Given the description of an element on the screen output the (x, y) to click on. 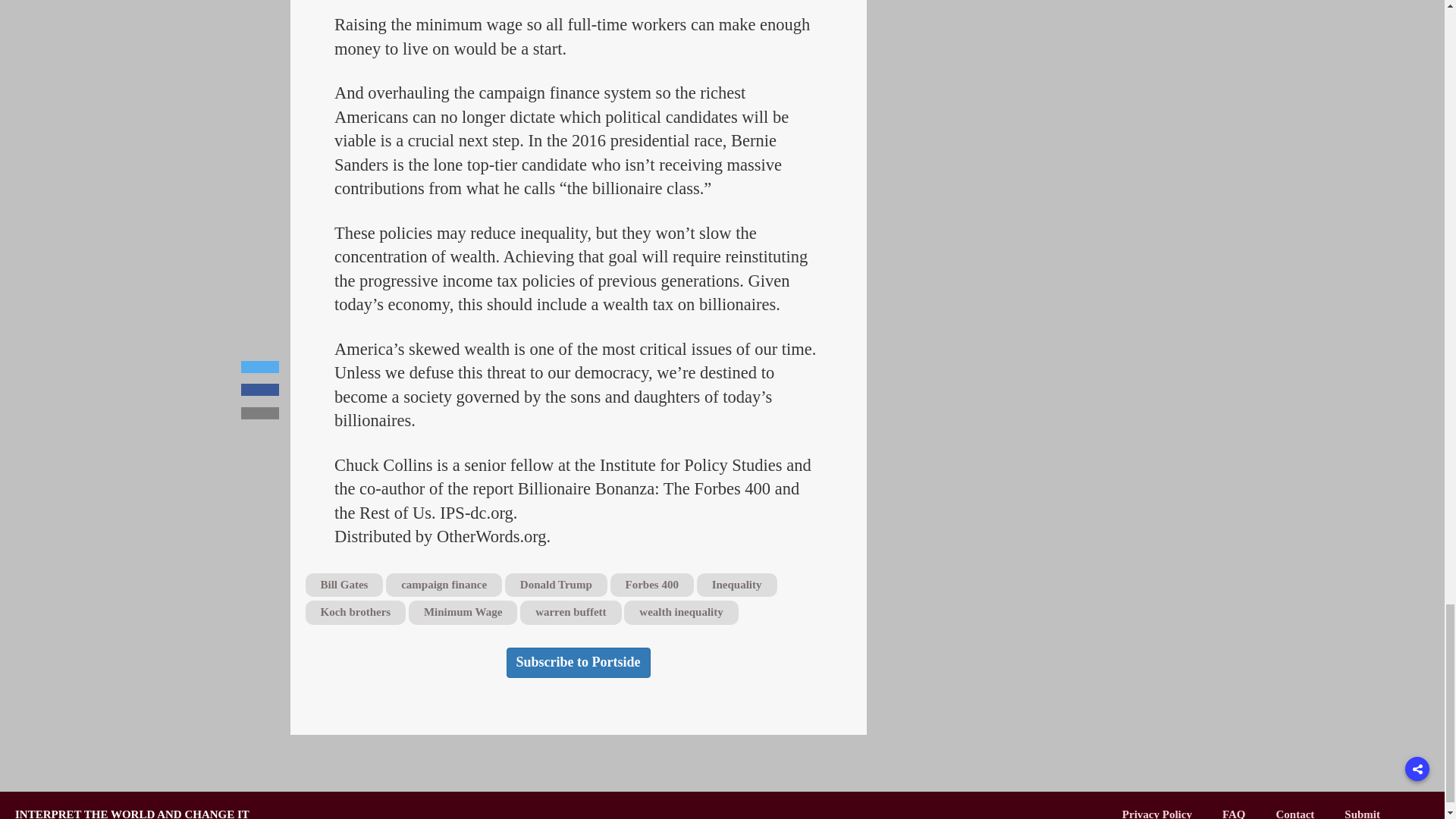
Submit an article to Portside (1361, 813)
Koch brothers (355, 612)
Subscribe to Portside (578, 662)
warren buffett (570, 612)
Forbes 400 (651, 585)
Donald Trump (556, 585)
Inequality (737, 585)
wealth inequality (681, 612)
Minimum Wage (462, 612)
campaign finance (443, 585)
Bill Gates (343, 585)
Frequently Asked Questions (1234, 813)
